Given the description of an element on the screen output the (x, y) to click on. 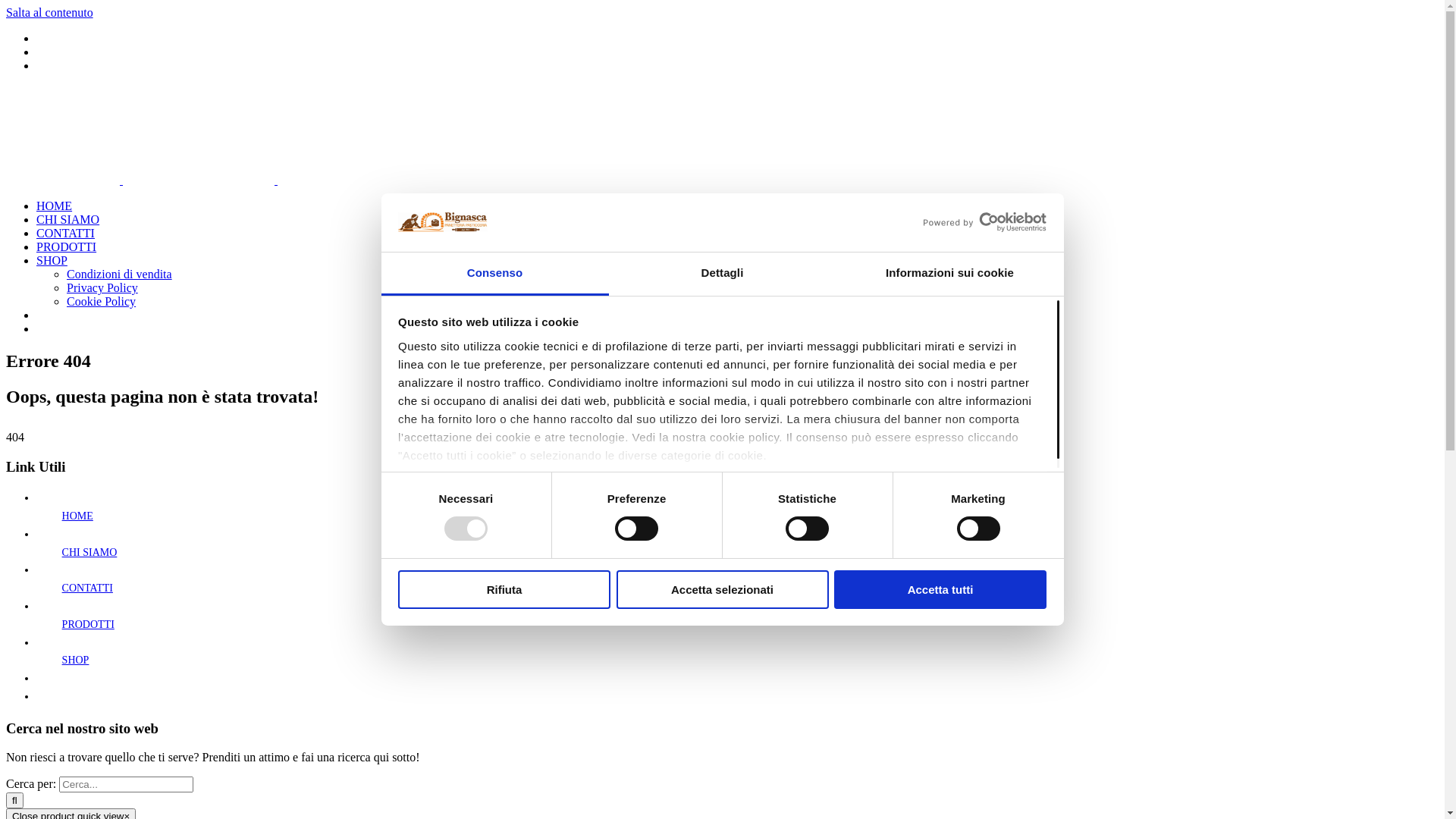
Cookie Policy Element type: text (100, 300)
Consenso Element type: text (494, 273)
CHI SIAMO Element type: text (89, 552)
PRODOTTI Element type: text (66, 246)
PRODOTTI Element type: text (88, 624)
Accetta selezionati Element type: text (721, 589)
HOME Element type: text (54, 205)
CONTATTI Element type: text (65, 232)
CONTATTI Element type: text (87, 587)
Rifiuta Element type: text (504, 589)
Condizioni di vendita Element type: text (119, 273)
Salta al contenuto Element type: text (49, 12)
SHOP Element type: text (75, 659)
CHI SIAMO Element type: text (67, 219)
Privacy Policy Element type: text (102, 287)
Dettagli Element type: text (721, 273)
HOME Element type: text (77, 515)
SHOP Element type: text (51, 260)
Informazioni sui cookie Element type: text (949, 273)
Accetta tutti Element type: text (940, 589)
